Given the description of an element on the screen output the (x, y) to click on. 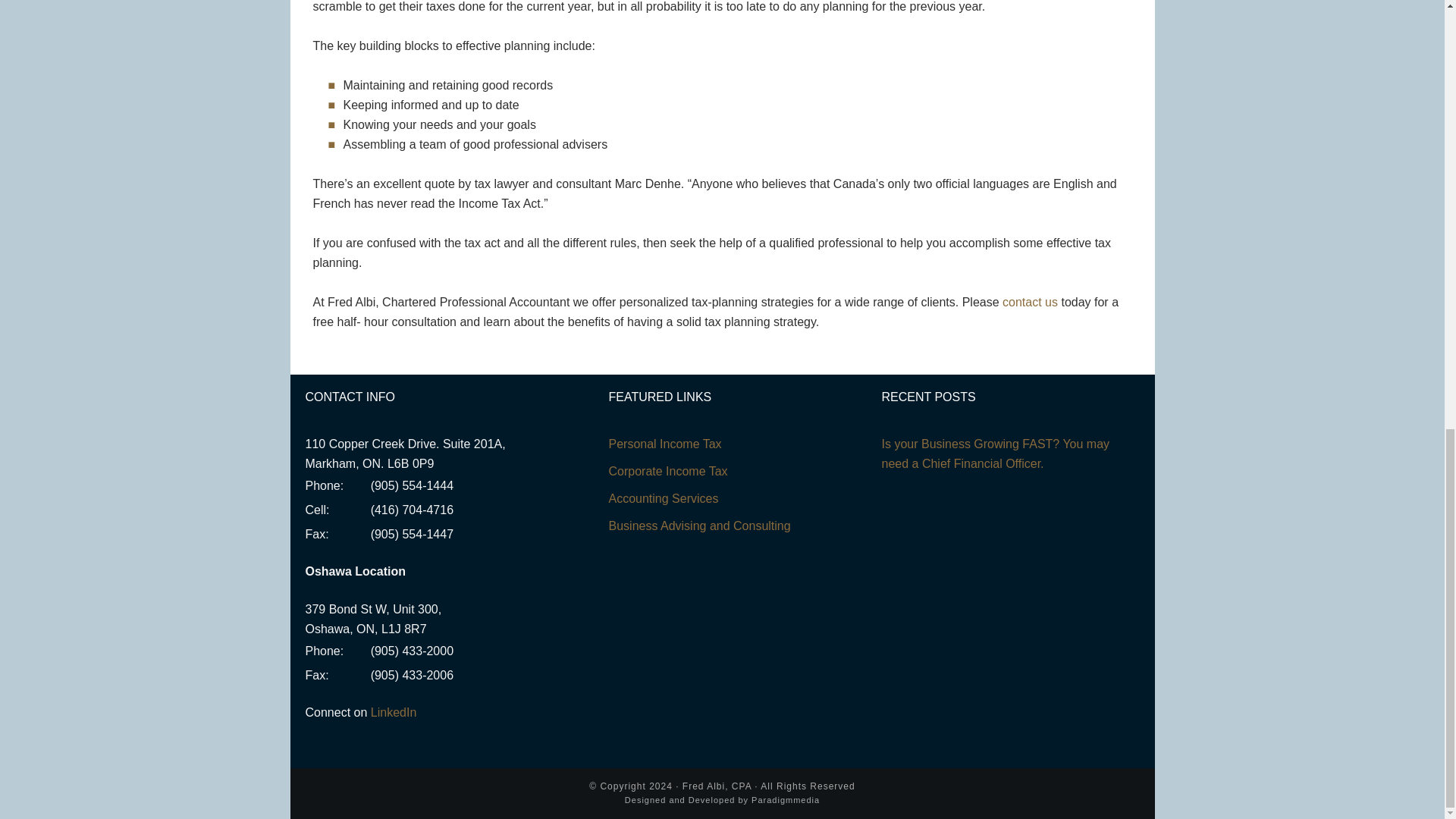
LinkedIn (393, 712)
Fred Albi, CPA (716, 786)
Corporate Income Tax (667, 471)
Accounting Services (662, 498)
Business Advising and Consulting (699, 525)
Paradigmmedia (785, 799)
Personal Income Tax (664, 443)
contact us (1030, 301)
